Given the description of an element on the screen output the (x, y) to click on. 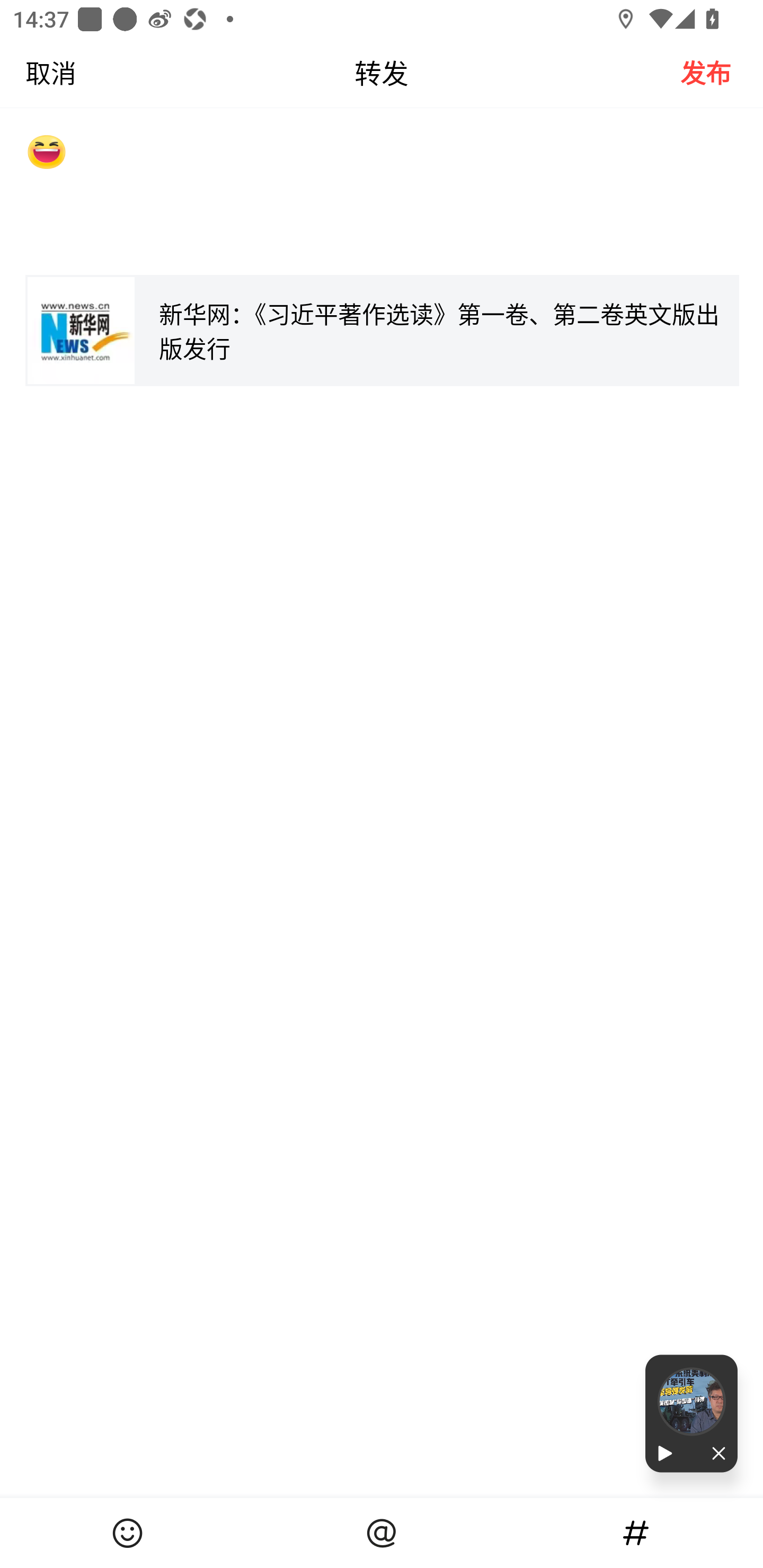
取消 (38, 71)
发布 (721, 71)
[大笑] (382, 194)
当前进度 0% (691, 1401)
播放 (668, 1454)
关闭 (714, 1454)
表情 (127, 1532)
at (381, 1532)
话题 (635, 1532)
